Given the description of an element on the screen output the (x, y) to click on. 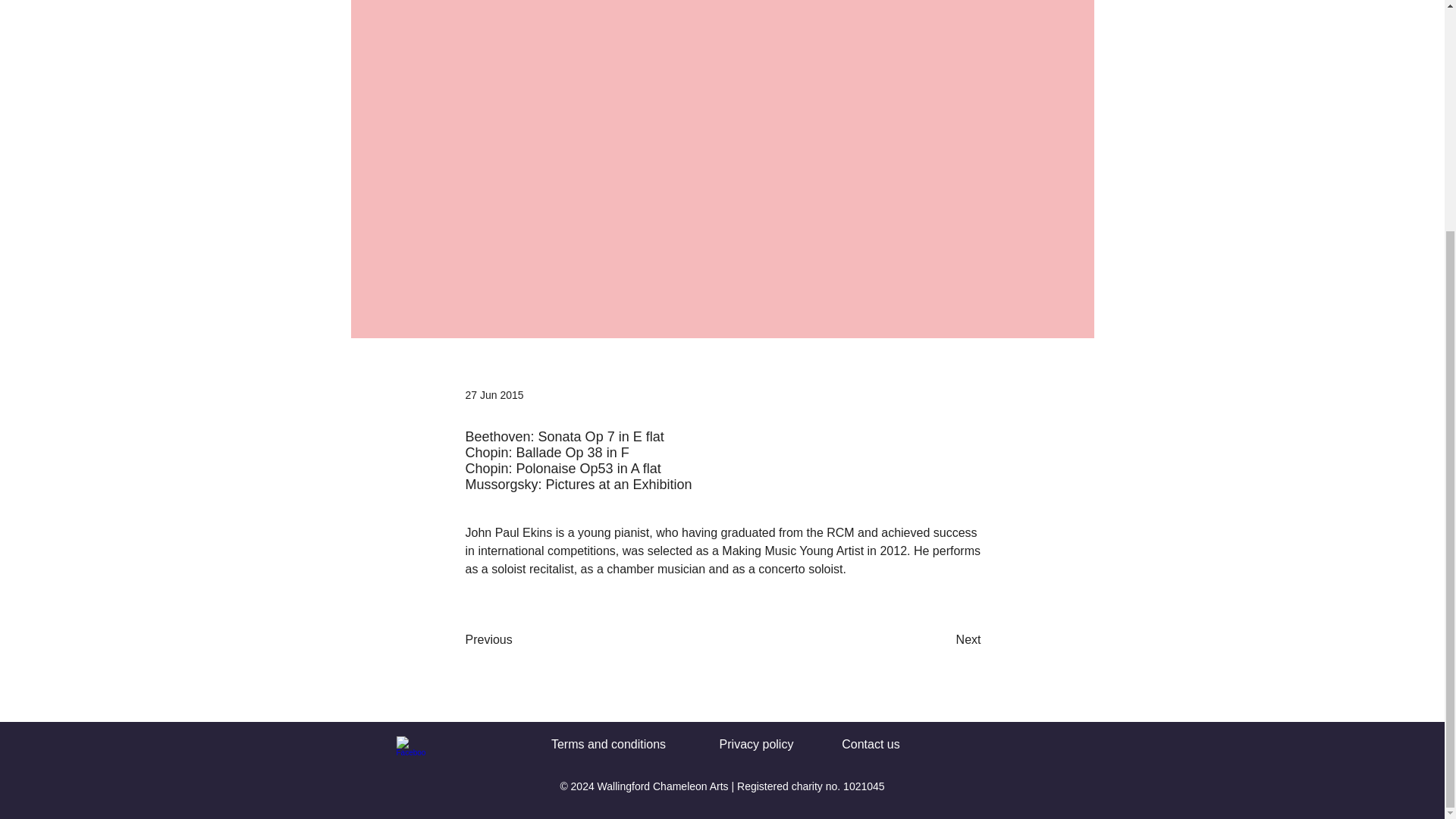
Privacy policy (756, 744)
Next (943, 639)
Contact us (870, 744)
Previous (515, 639)
Terms and conditions (608, 744)
